Given the description of an element on the screen output the (x, y) to click on. 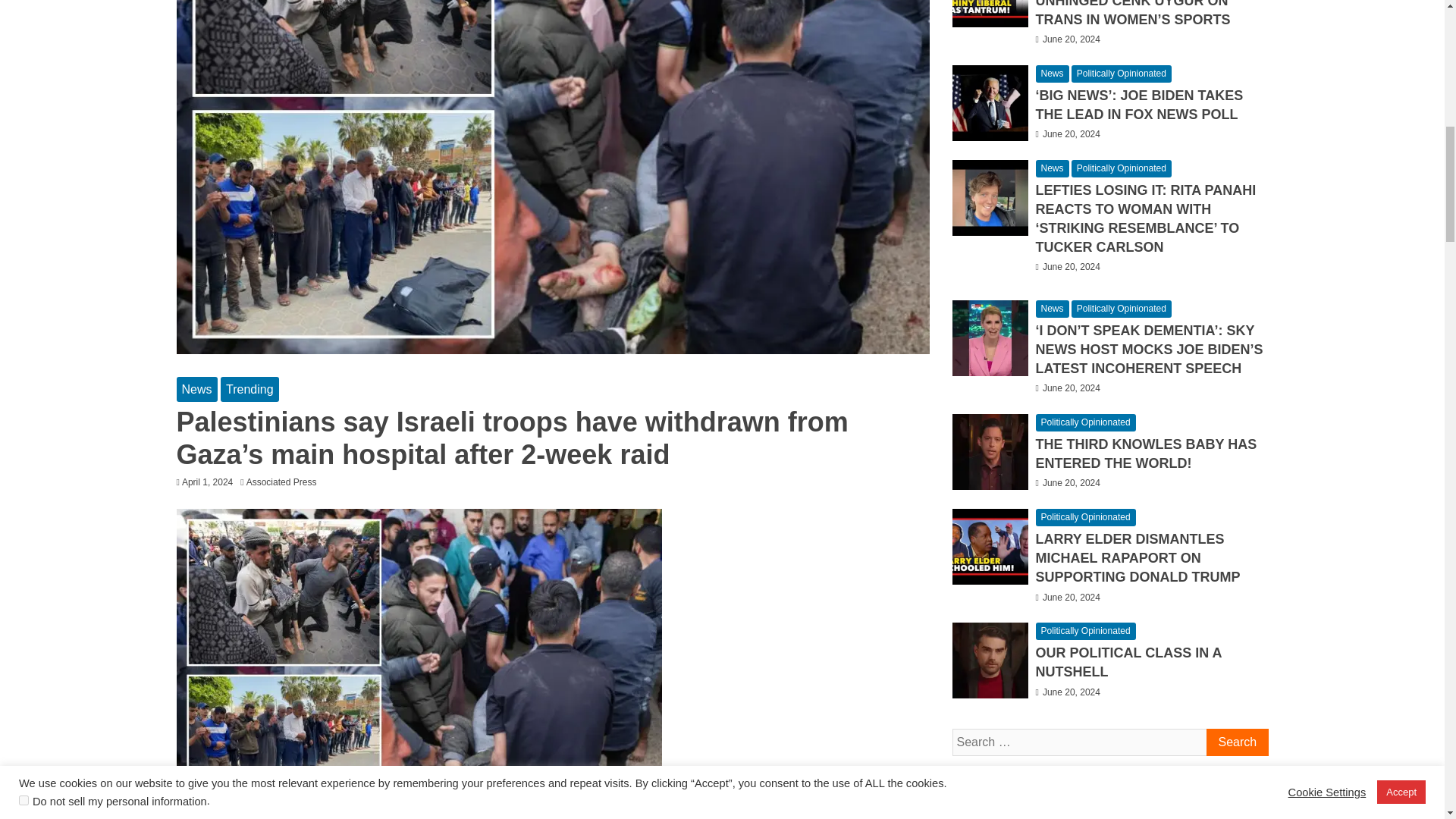
The third Knowles baby has entered the world! 10 (989, 451)
April 1, 2024 (207, 481)
Search (1236, 741)
Trending (250, 389)
News (196, 389)
Associated Press (285, 481)
Search (1236, 741)
